Given the description of an element on the screen output the (x, y) to click on. 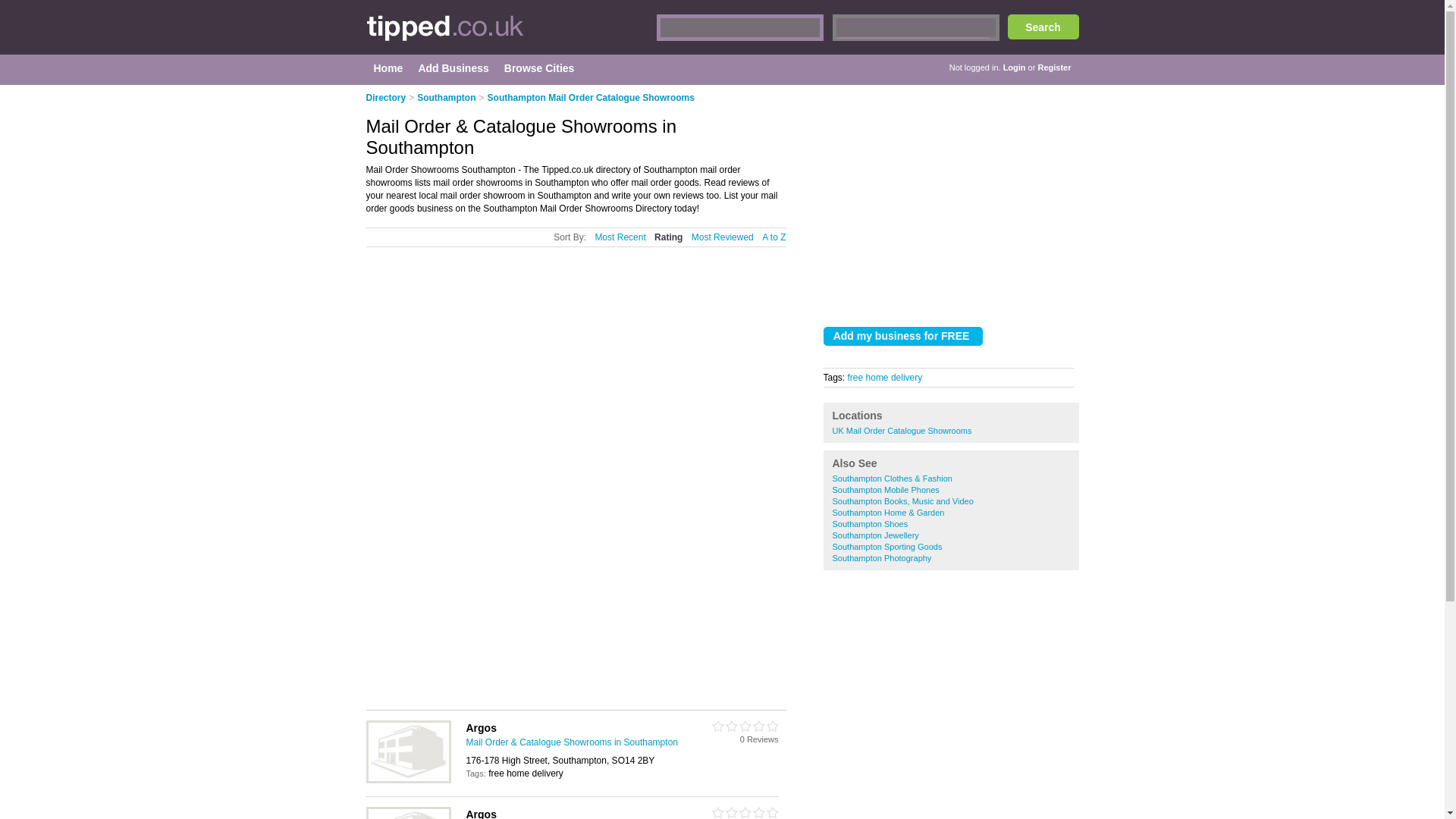
Login (1014, 67)
Southampton Books, Music and Video (903, 501)
Most Recent (619, 237)
Browse Cities (538, 68)
Add my business for FREE (903, 335)
Southampton Sporting Goods (887, 546)
Most Reviewed (722, 237)
Search (1042, 26)
Add my business for FREE (903, 335)
Southampton Shoes (870, 523)
Directory (385, 97)
Southampton (446, 97)
Rating (667, 237)
Southampton Photography (881, 557)
free home delivery (885, 377)
